Given the description of an element on the screen output the (x, y) to click on. 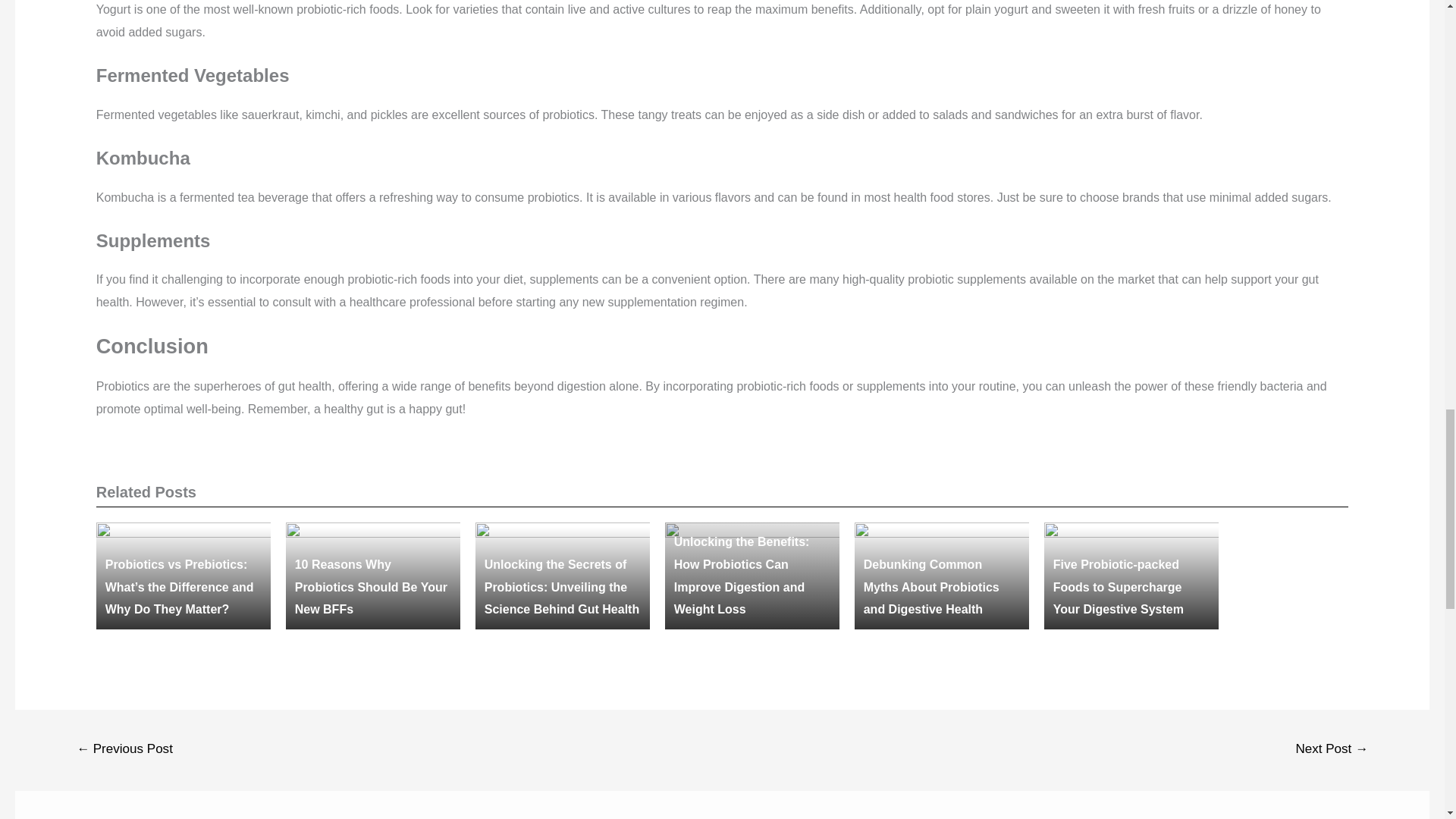
10 Reasons Why Probiotics Should Be Your New BFFs (370, 586)
Debunking Common Myths About Probiotics and Digestive Health (930, 586)
